Given the description of an element on the screen output the (x, y) to click on. 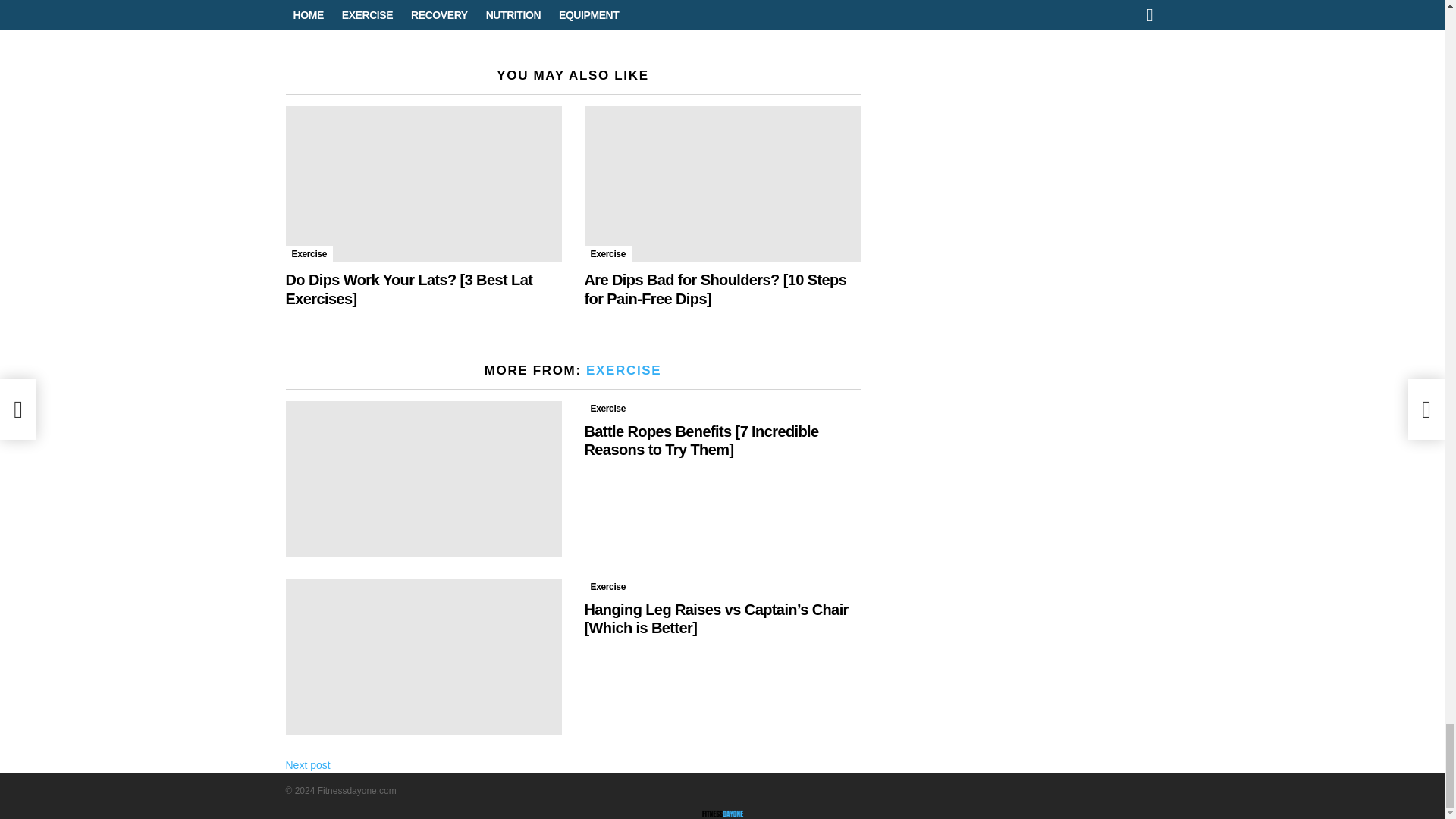
Exercise (309, 253)
Exercise (607, 253)
Exercise (607, 408)
EXERCISE (623, 370)
